Given the description of an element on the screen output the (x, y) to click on. 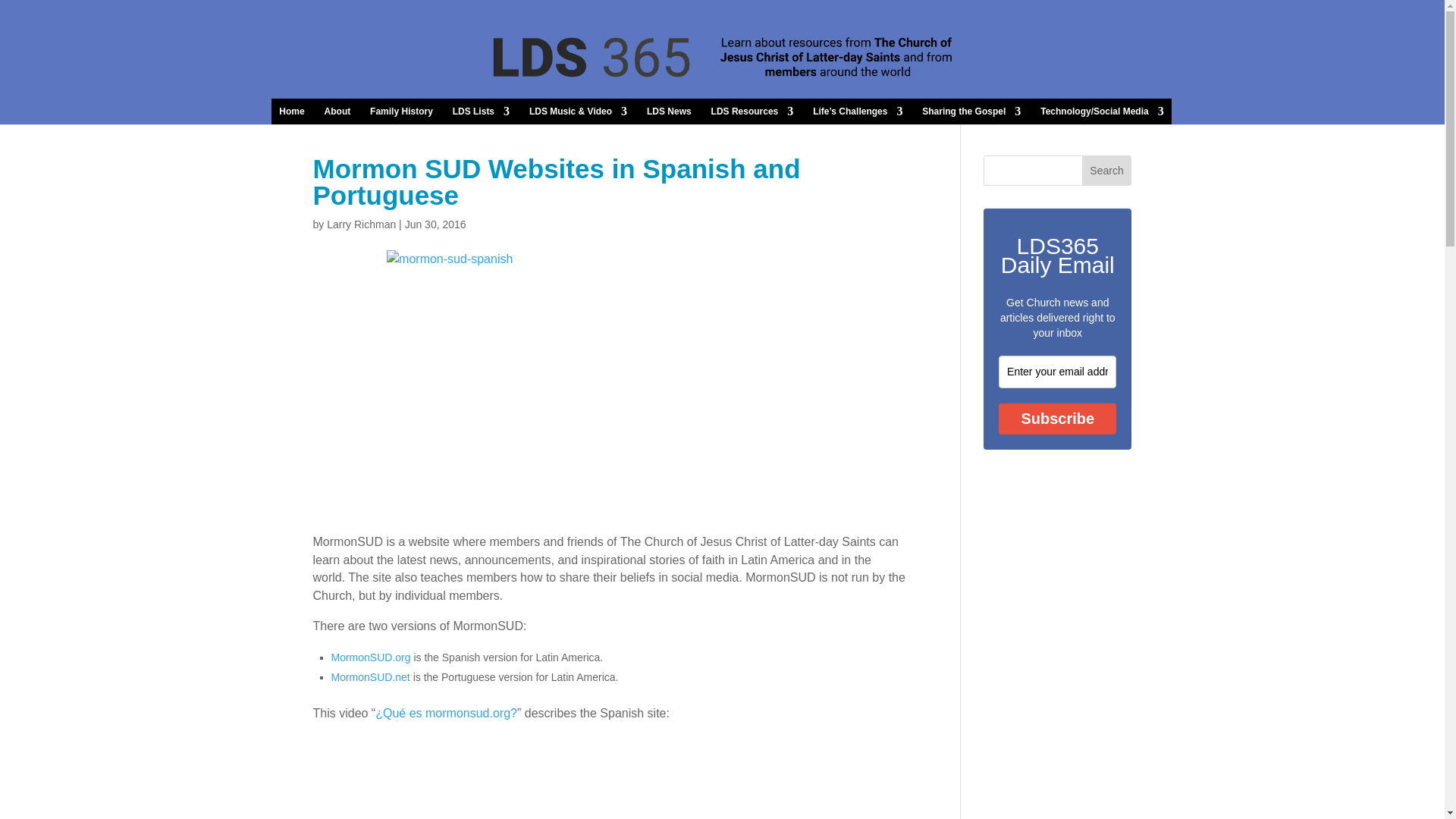
About (337, 111)
Home (291, 111)
Home (291, 111)
LDS Resources (752, 111)
LDS Lists (480, 111)
Search (1106, 170)
Posts by Larry Richman (361, 224)
About (337, 111)
LDS News (668, 111)
Family History (400, 111)
